Given the description of an element on the screen output the (x, y) to click on. 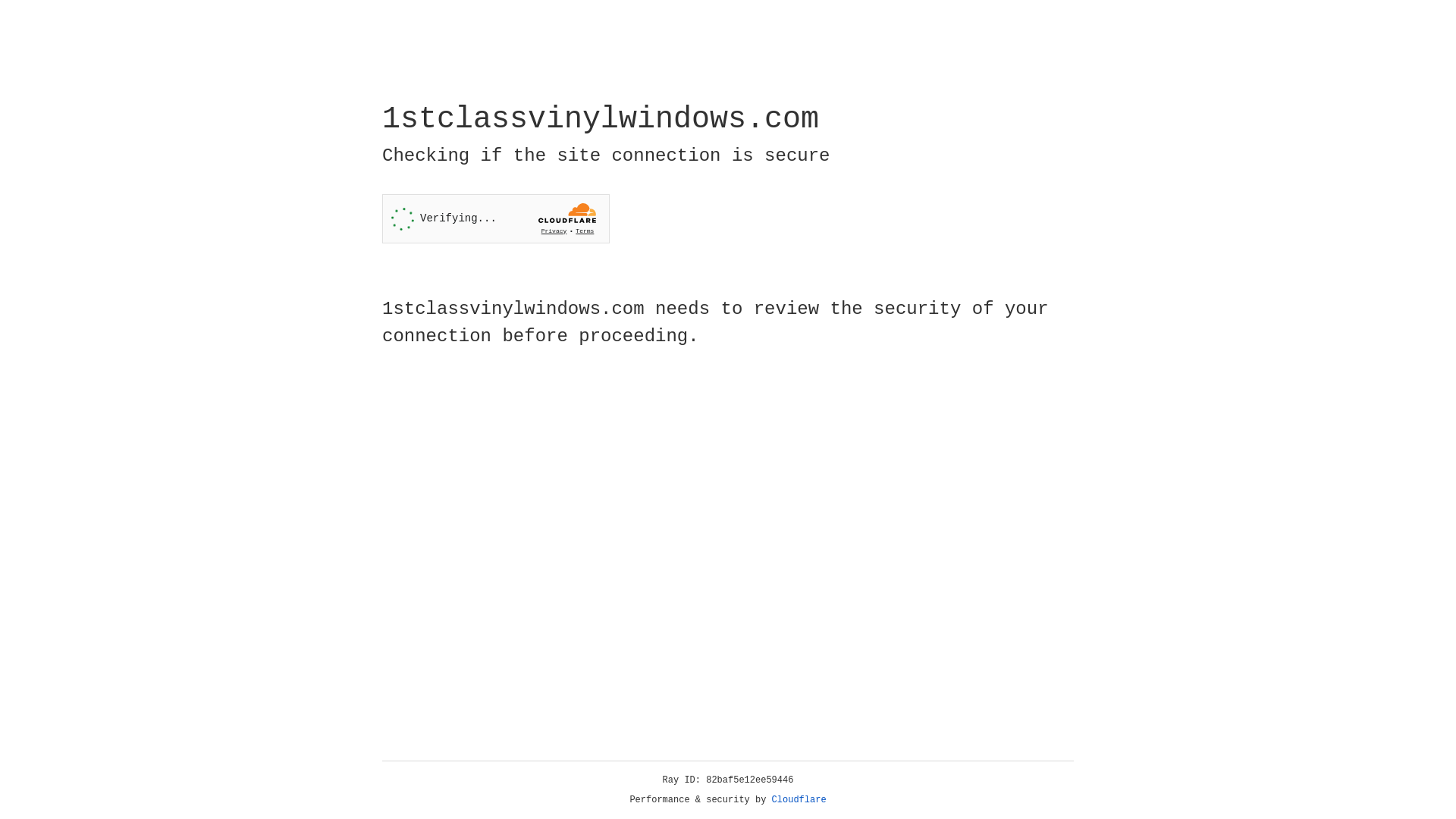
Cloudflare Element type: text (798, 799)
Widget containing a Cloudflare security challenge Element type: hover (495, 218)
